Given the description of an element on the screen output the (x, y) to click on. 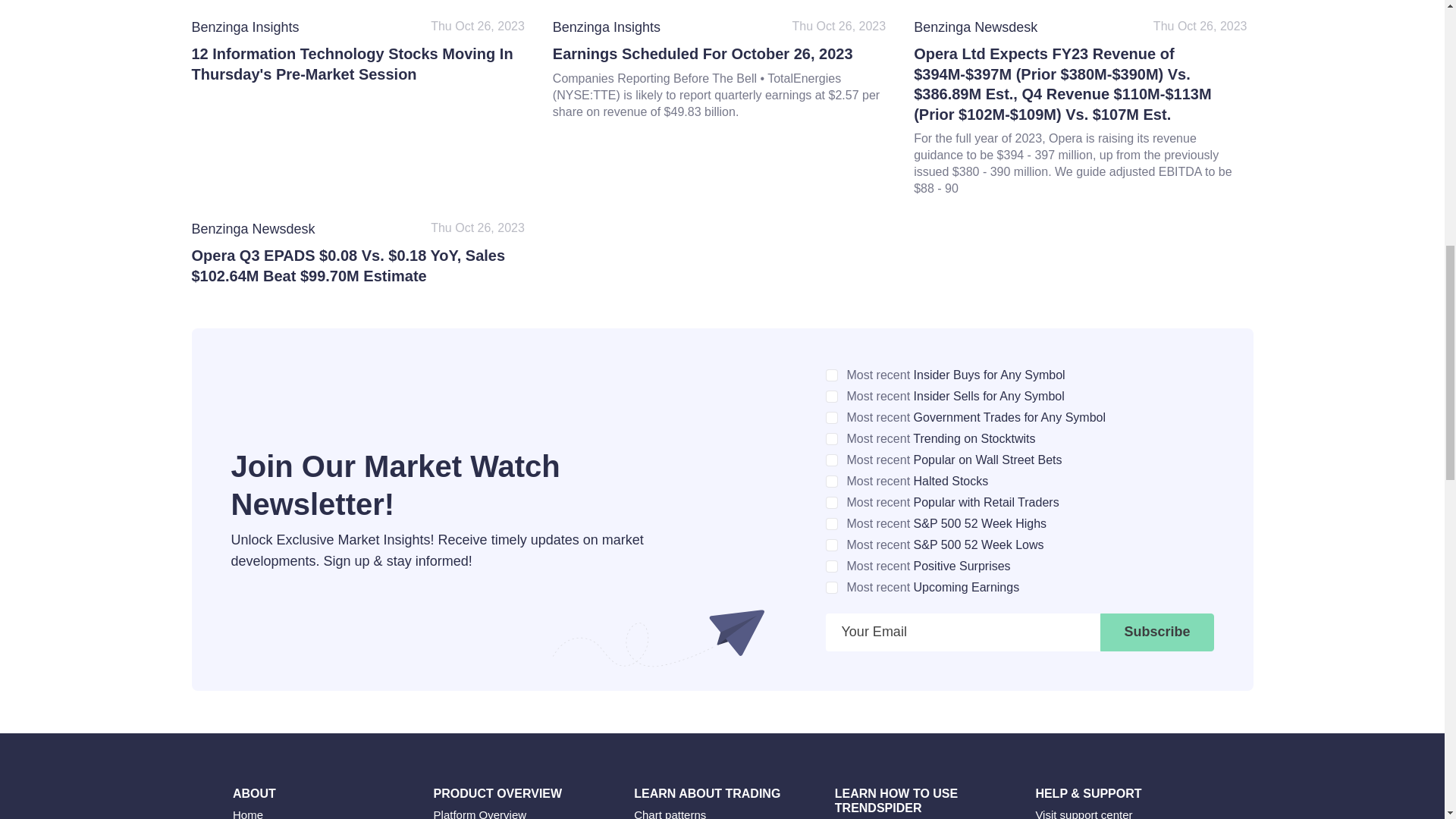
f719514e42 (831, 396)
3a07d46d92 (831, 417)
8b92b9941f (831, 375)
c70639aa54 (831, 439)
a747b9d98f (831, 523)
699fe29fdc (831, 502)
1b5bdac35d (831, 544)
b6dd00a374 (831, 460)
0b3ee44cd9 (831, 587)
cf00d8d957 (831, 566)
